Given the description of an element on the screen output the (x, y) to click on. 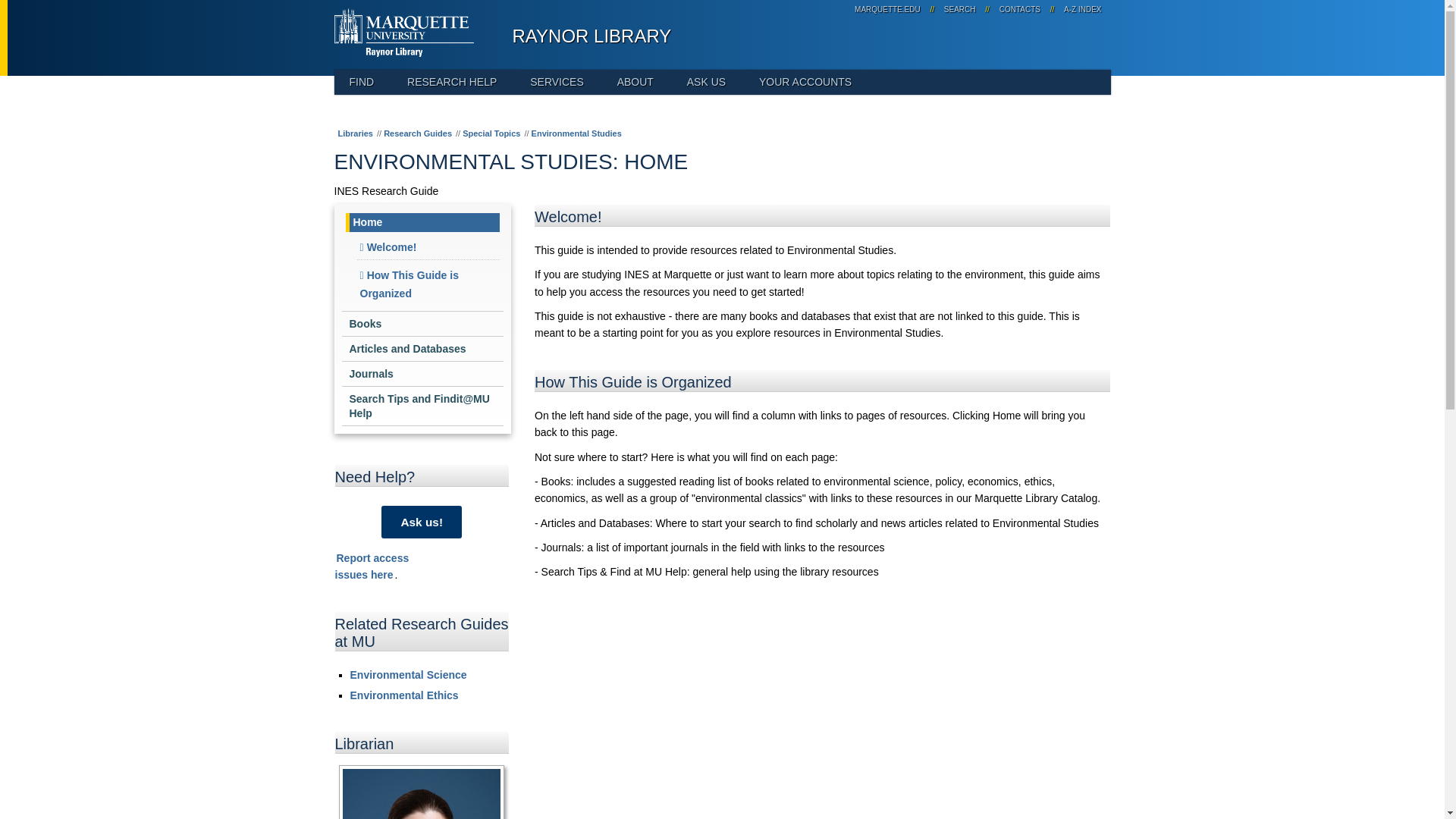
SERVICES (556, 81)
ABOUT (635, 81)
YOUR ACCOUNTS (805, 81)
SEARCH (371, 566)
Home (959, 8)
How This Guide is Organized (423, 221)
MARQUETTE.EDU (427, 283)
A-Z INDEX (887, 8)
Special Topics (1079, 8)
Welcome! (491, 133)
CONTACTS (427, 247)
ASK US (1019, 8)
Books (706, 81)
Ask us! (423, 323)
